Given the description of an element on the screen output the (x, y) to click on. 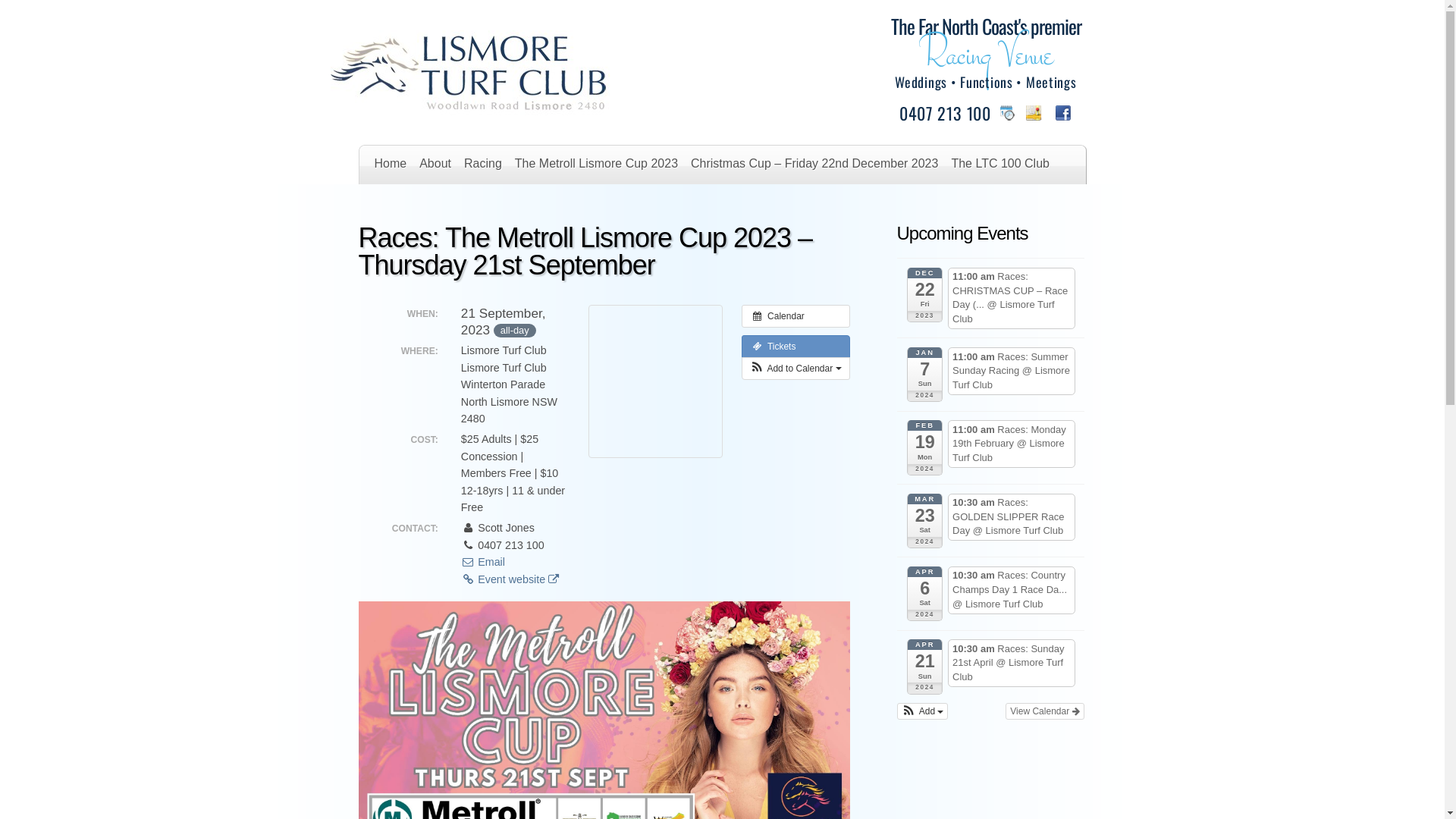
11:00 am Races: Monday 19th February @ Lismore Turf Club Element type: text (1011, 443)
APR
21
Sun
2024 Element type: text (924, 666)
DEC
22
Fri
2023 Element type: text (924, 293)
Tickets Element type: text (795, 346)
Snack The Track Element type: text (419, 204)
Calendar Element type: text (795, 315)
The Metroll Lismore Cup 2023 Element type: text (595, 168)
View Calendar Element type: text (1044, 710)
About Element type: text (435, 168)
Like and follow the Lismore Turf Club on Facebook Element type: hover (1063, 111)
Home Element type: text (390, 168)
10:30 am Races: GOLDEN SLIPPER Race Day @ Lismore Turf Club Element type: text (1011, 517)
JAN
7
Sun
2024 Element type: text (924, 374)
Members Element type: text (568, 204)
Racing Element type: text (483, 168)
Contacts & Map Element type: text (649, 204)
FEB
19
Mon
2024 Element type: text (924, 447)
The LTC 100 Club Element type: text (999, 168)
APR
6
Sat
2024 Element type: text (924, 593)
Lismore Turf Club Racing and Event Calendar Element type: hover (1008, 111)
Event website Element type: text (509, 579)
Email Element type: text (483, 561)
11:00 am Races: Summer Sunday Racing @ Lismore Turf Club Element type: text (1011, 371)
10:30 am Races: Sunday 21st April @ Lismore Turf Club Element type: text (1011, 663)
Functions Element type: text (503, 204)
Lismore Turf Club location map and contacts Element type: hover (1034, 111)
MAR
23
Sat
2024 Element type: text (924, 520)
